Given the description of an element on the screen output the (x, y) to click on. 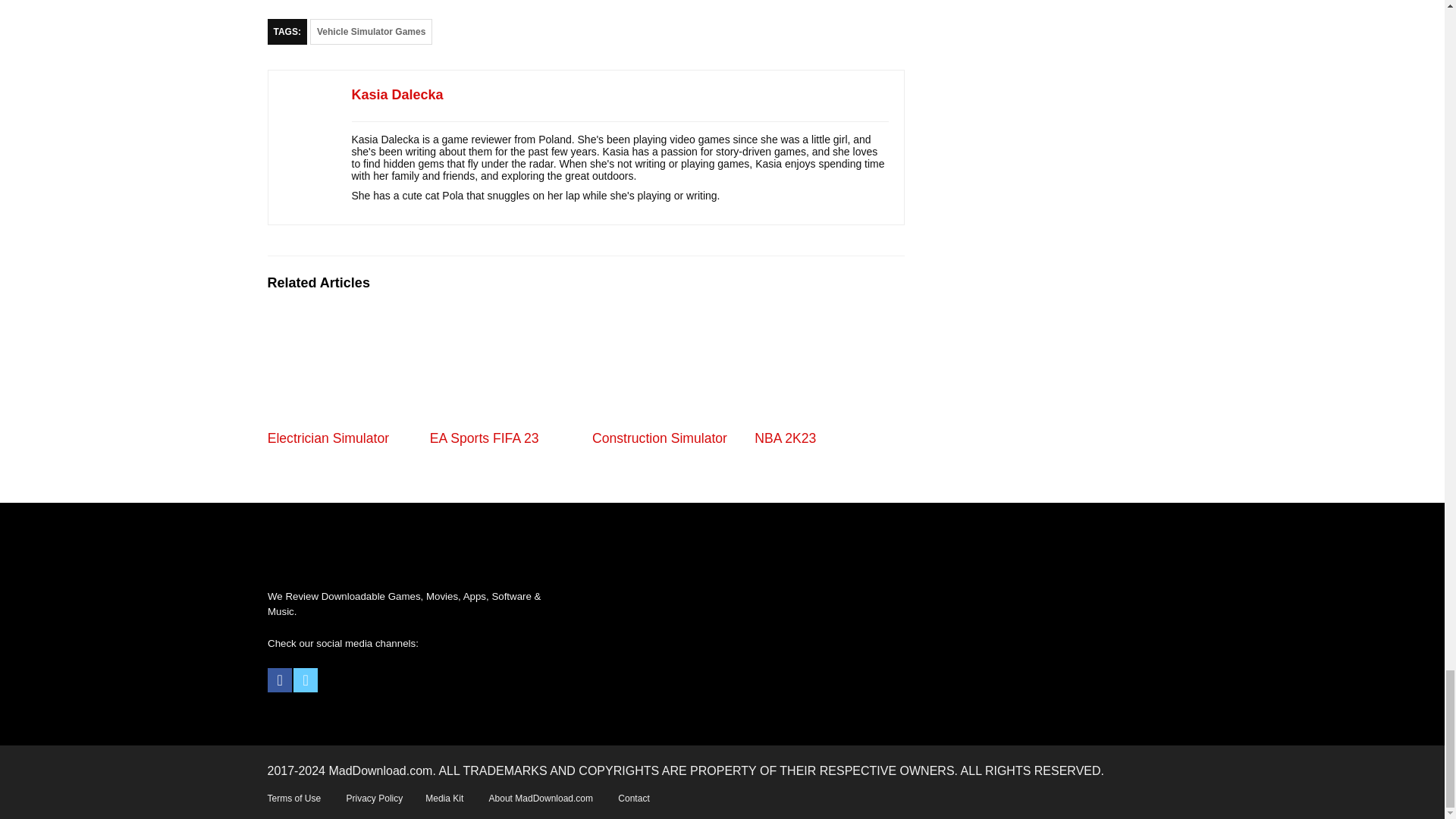
MadDownload Twitter Page (305, 680)
MadDownload Facebook Page (279, 680)
